Given the description of an element on the screen output the (x, y) to click on. 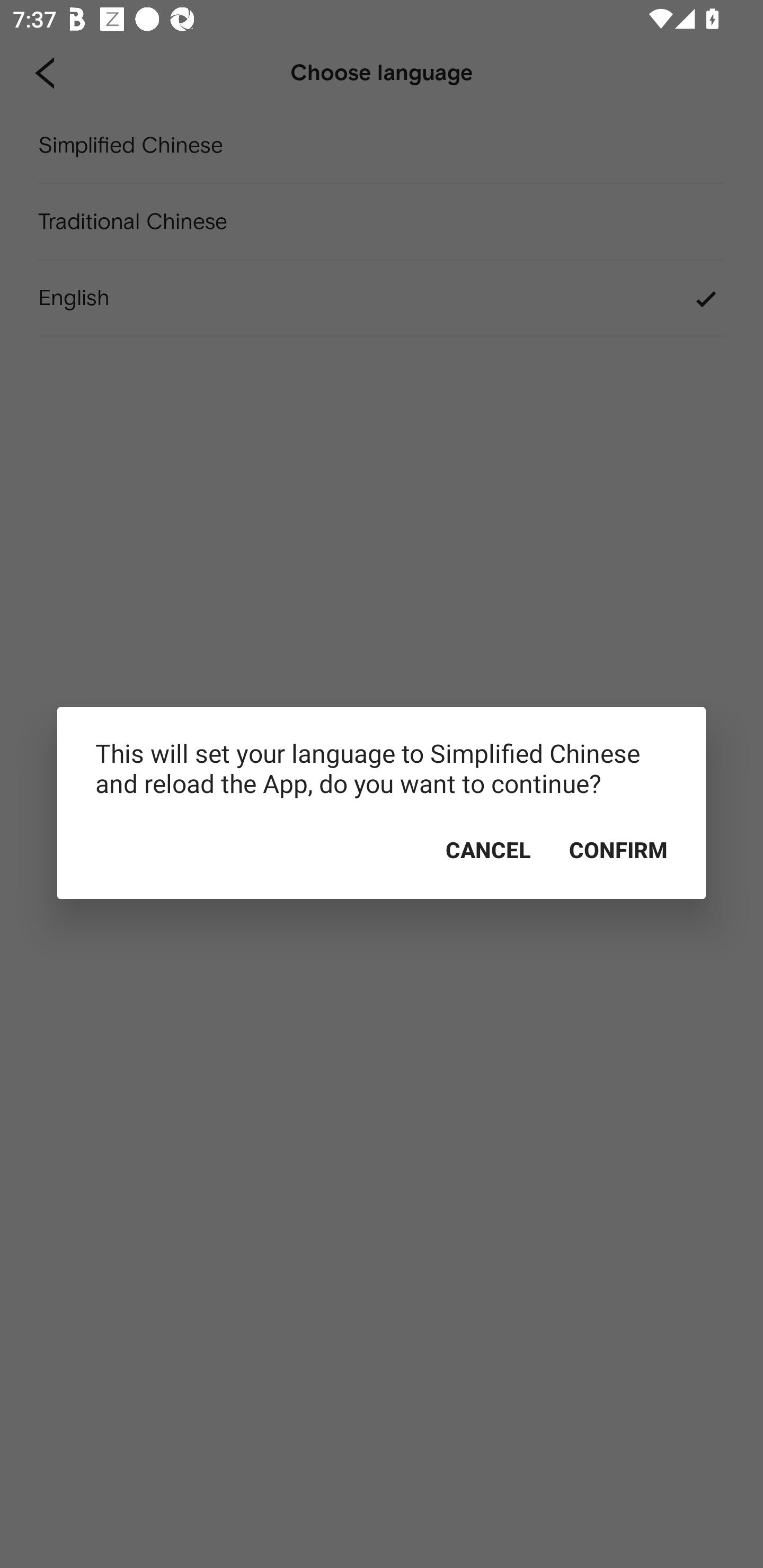
CANCEL (488, 849)
CONFIRM (618, 849)
